Given the description of an element on the screen output the (x, y) to click on. 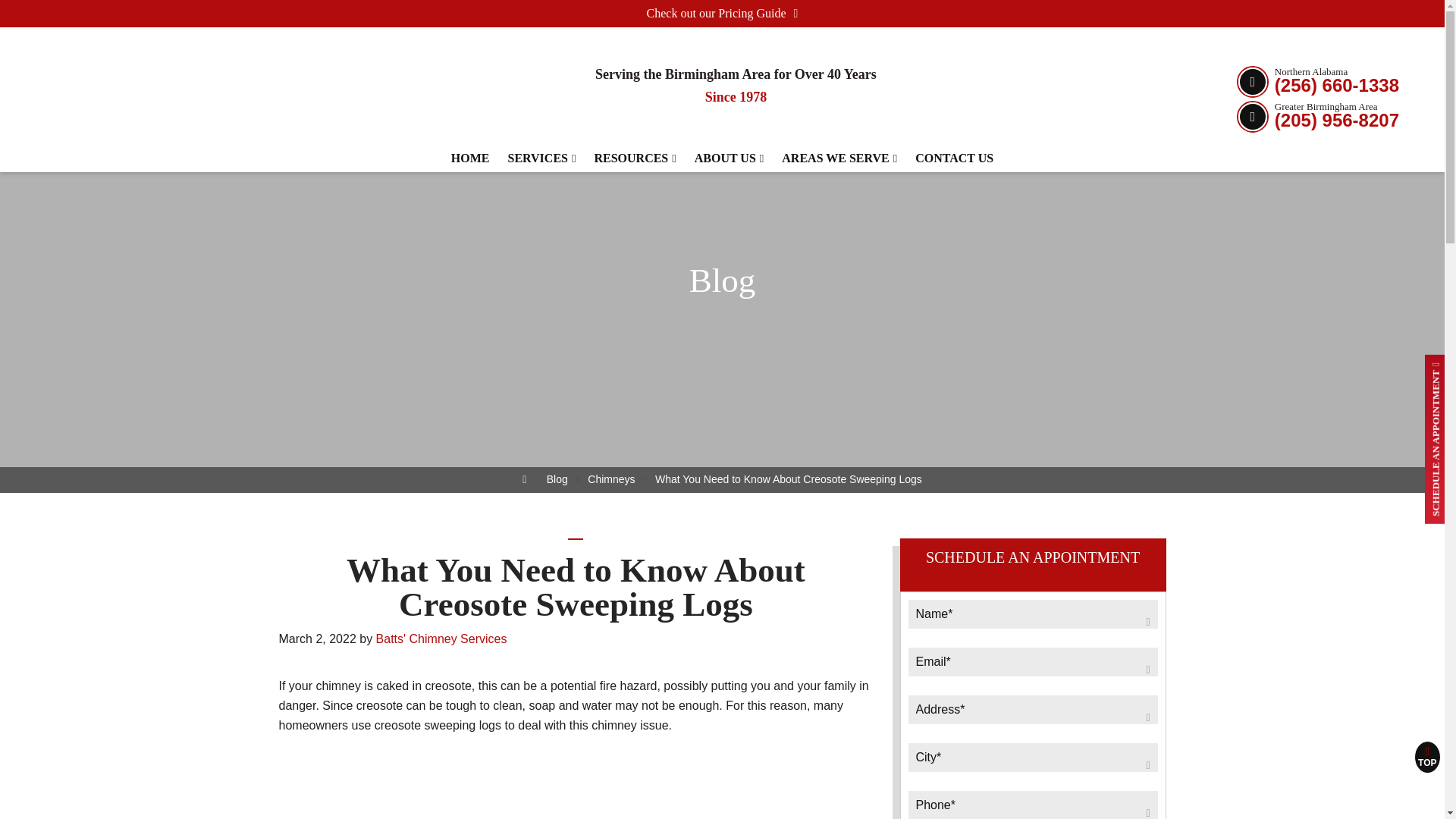
Batts' Chimney Services (440, 638)
AREAS WE SERVE (839, 84)
Chimneys (611, 479)
Blog (557, 479)
CONTACT US (954, 104)
Batts' Chimney Services (139, 99)
